Given the description of an element on the screen output the (x, y) to click on. 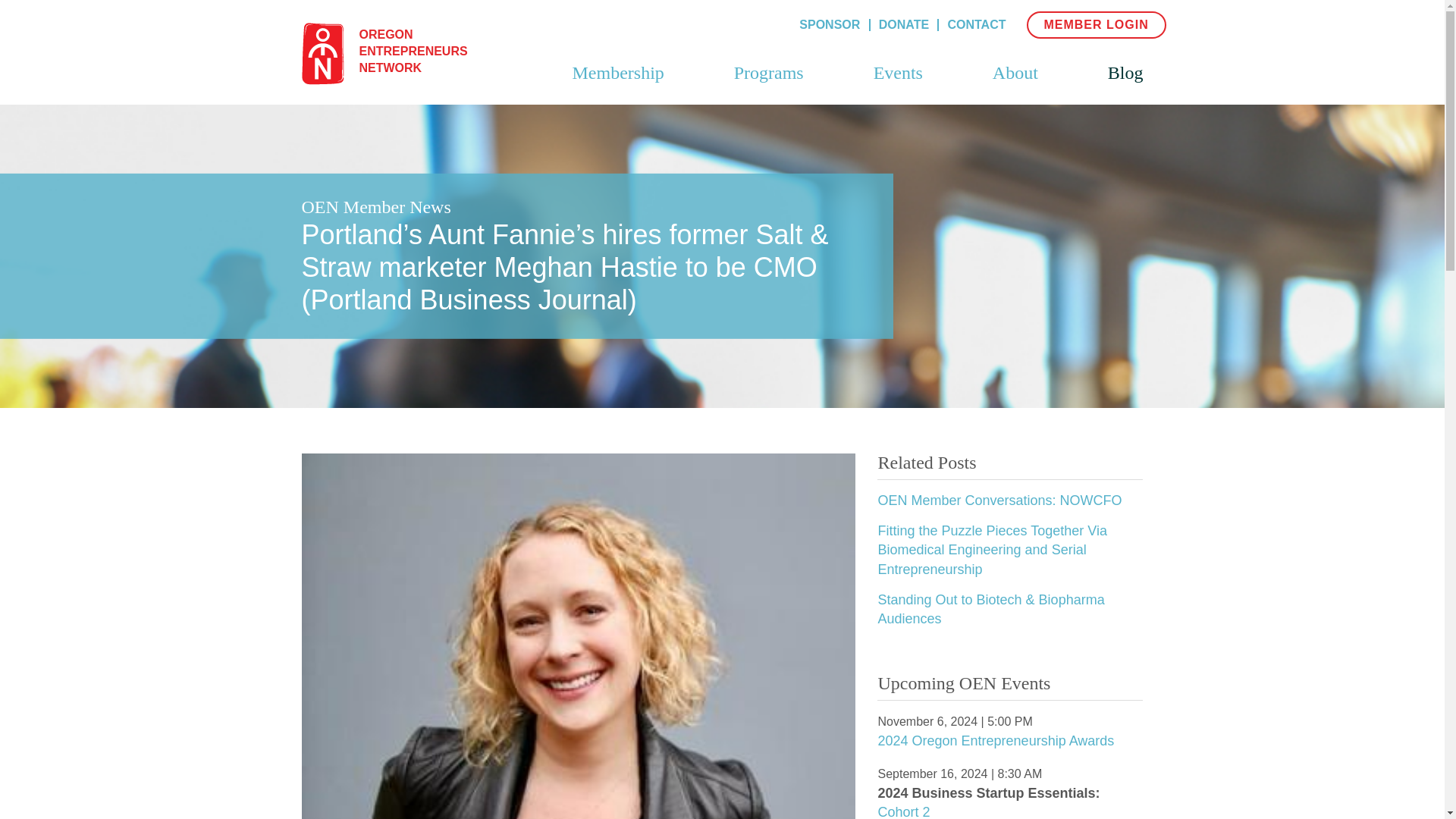
Events (898, 85)
Programs (768, 85)
CONTACT (398, 52)
DONATE (976, 24)
OEN Member Conversations: NOWCFO (903, 24)
MEMBER LOGIN (999, 500)
SPONSOR (1096, 24)
2024 Oregon Entrepreneurship Awards (829, 24)
Membership (995, 740)
Cohort 2 (617, 85)
About (903, 811)
